Given the description of an element on the screen output the (x, y) to click on. 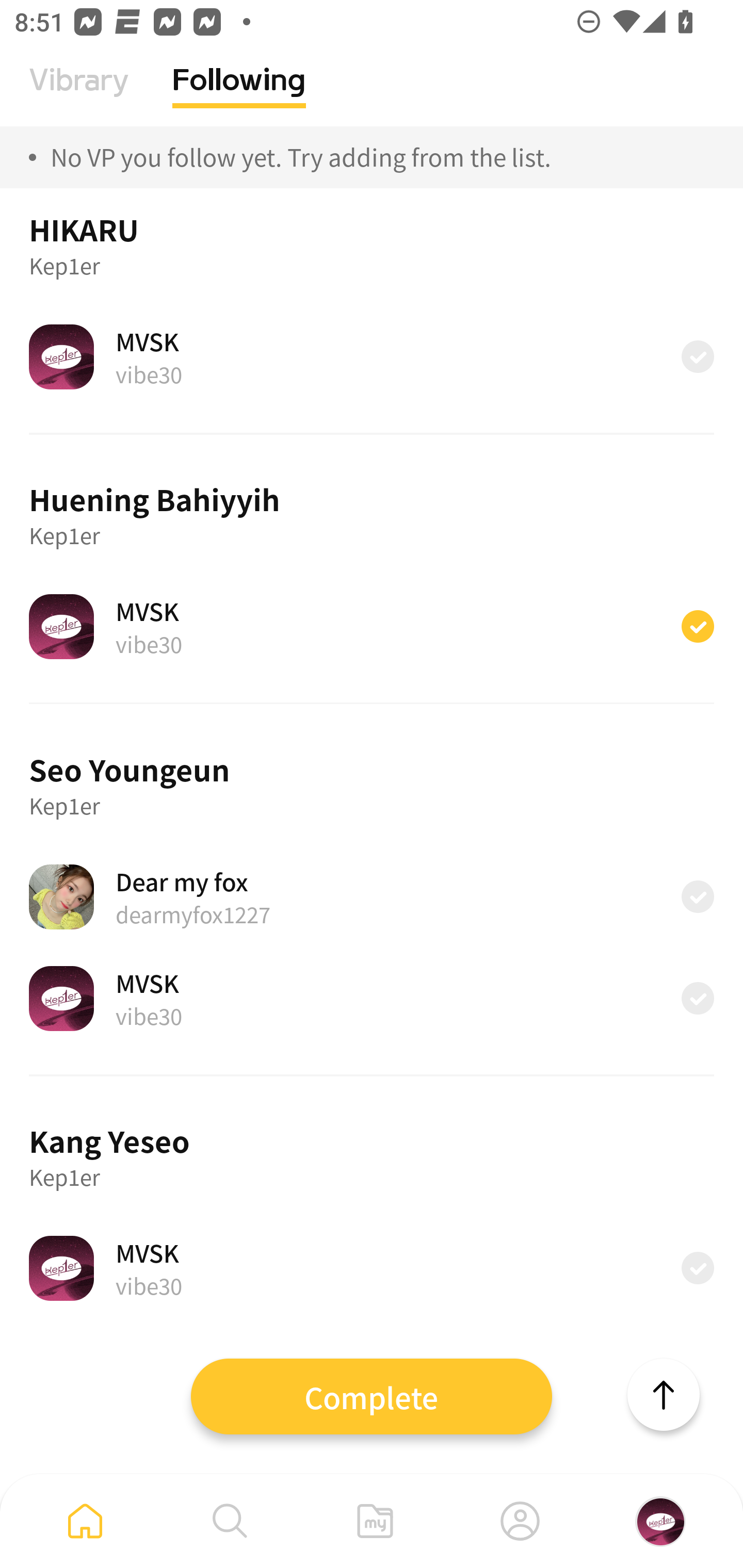
Vibrary (78, 95)
Following (239, 95)
MVSK vibe30 (371, 356)
MVSK vibe30 (371, 626)
Dear my fox dearmyfox1227 (371, 896)
MVSK vibe30 (371, 998)
MVSK vibe30 (371, 1268)
Complete (371, 1395)
